Given the description of an element on the screen output the (x, y) to click on. 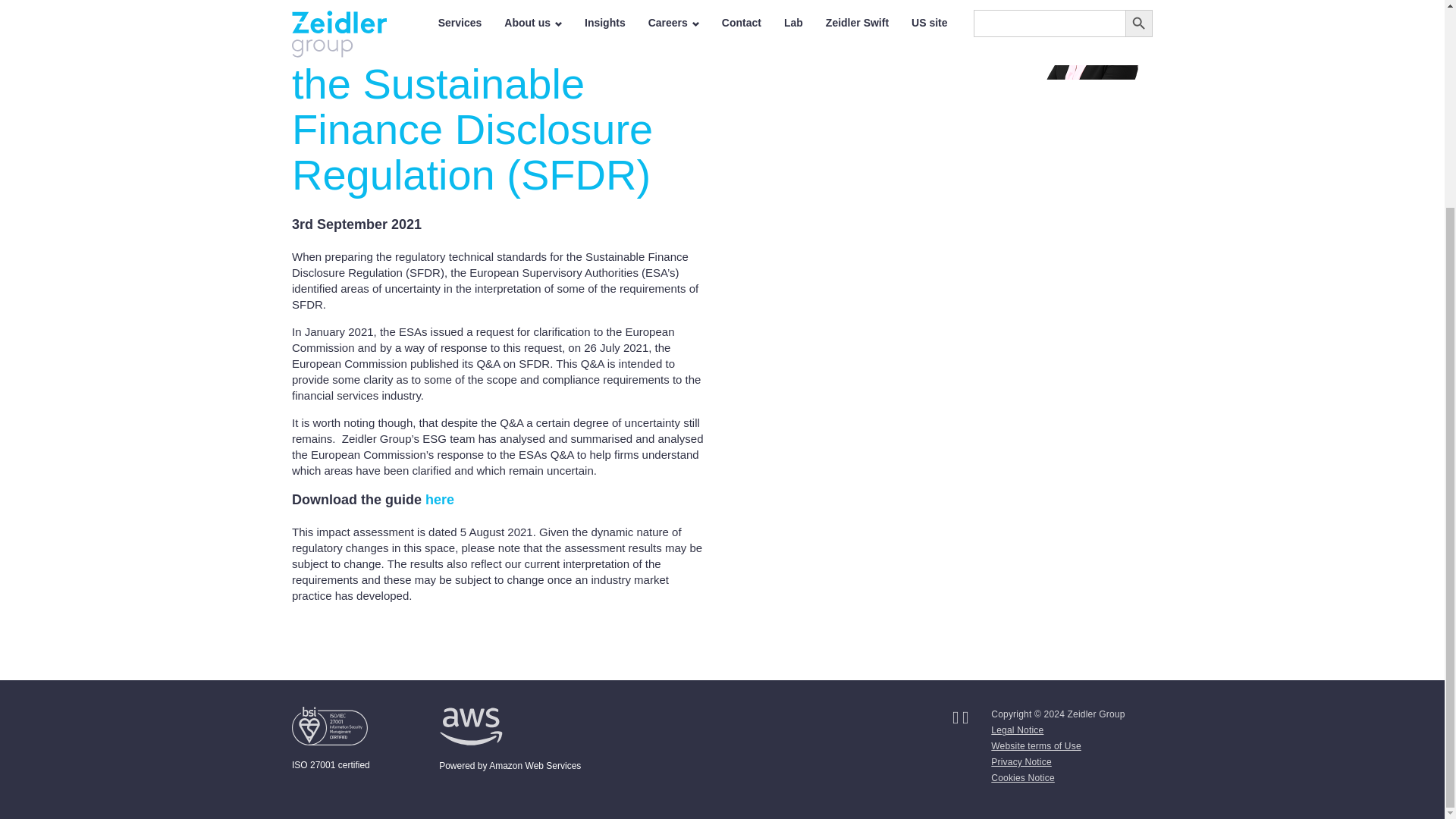
Legal Notice (1017, 729)
here (439, 499)
Privacy Notice (1021, 761)
Website terms of Use (1035, 746)
Cookies Notice (1022, 777)
